Given the description of an element on the screen output the (x, y) to click on. 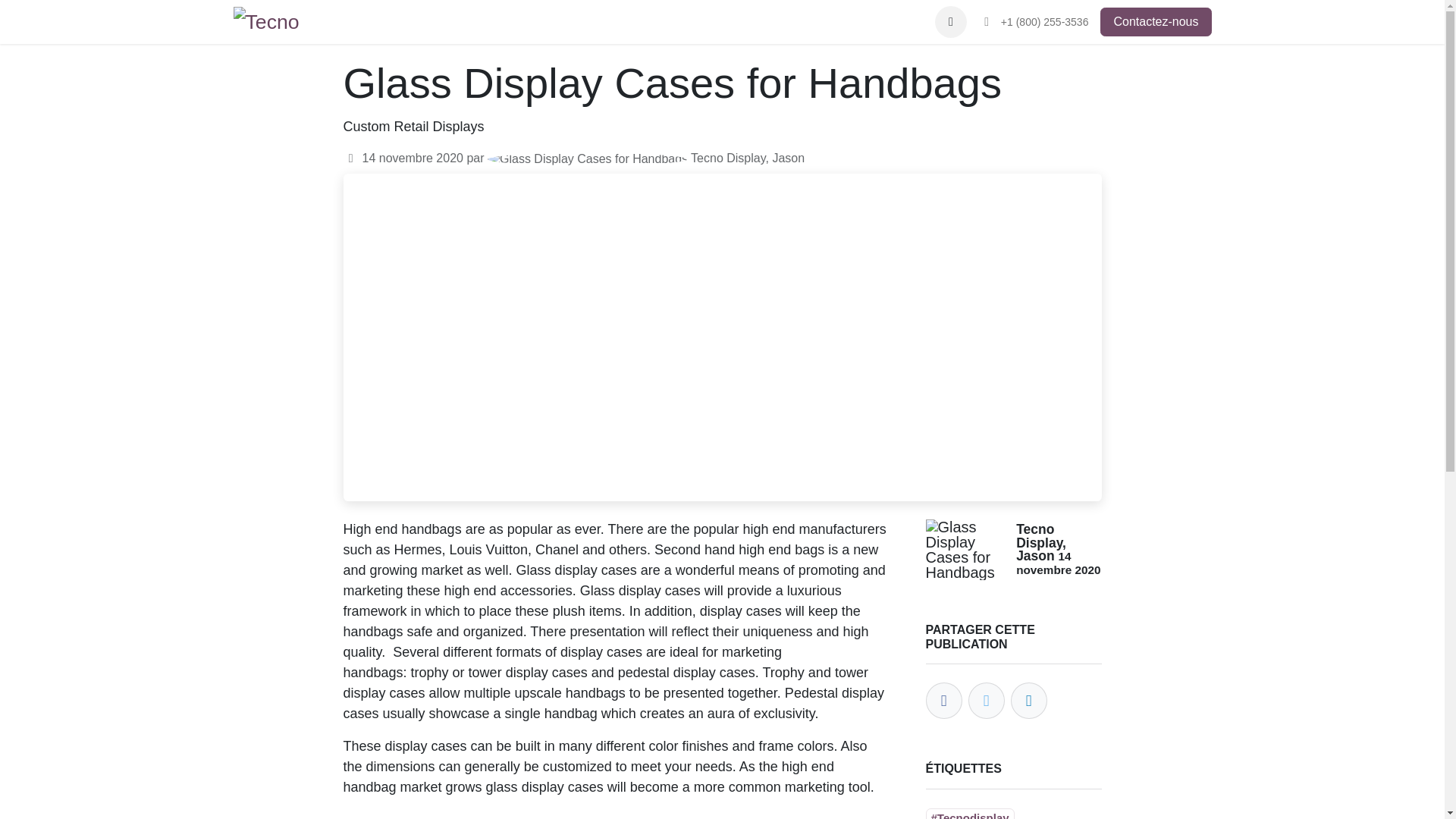
Partager sur Facebook (942, 700)
Tecno Display (268, 21)
Contactez-nous (1155, 21)
Rechercher (950, 21)
Partager sur LinkedIn (1028, 700)
LinkedIn (1029, 700)
Twitter (987, 700)
Partager sur Twitter (986, 700)
